Given the description of an element on the screen output the (x, y) to click on. 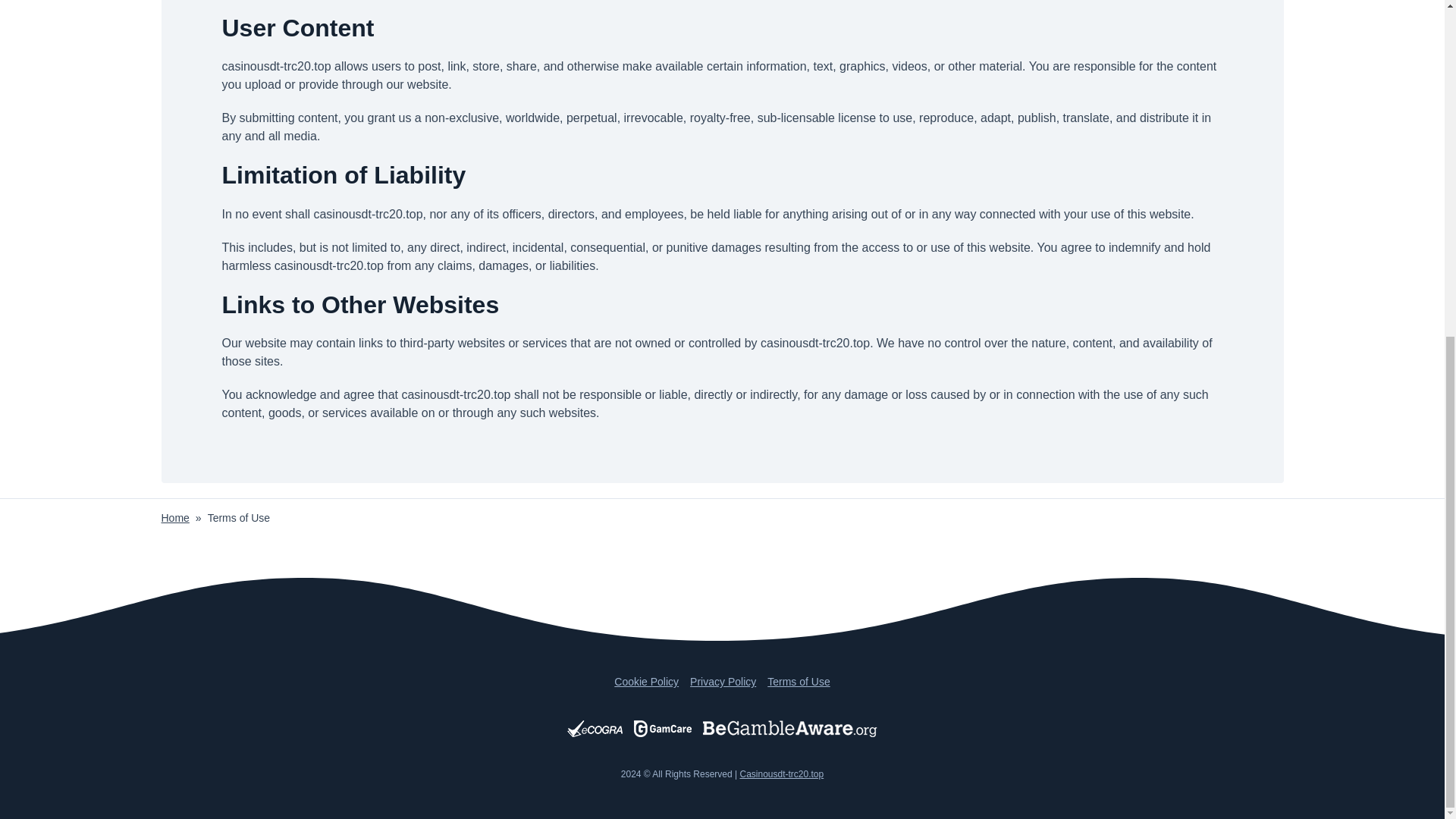
GamCare (662, 728)
BeGambleAware (790, 728)
Terms of Use (798, 682)
Casinousdt-trc20.top (781, 774)
Privacy Policy (722, 682)
eCogra (595, 728)
Cookie Policy (646, 682)
Home (174, 517)
